Given the description of an element on the screen output the (x, y) to click on. 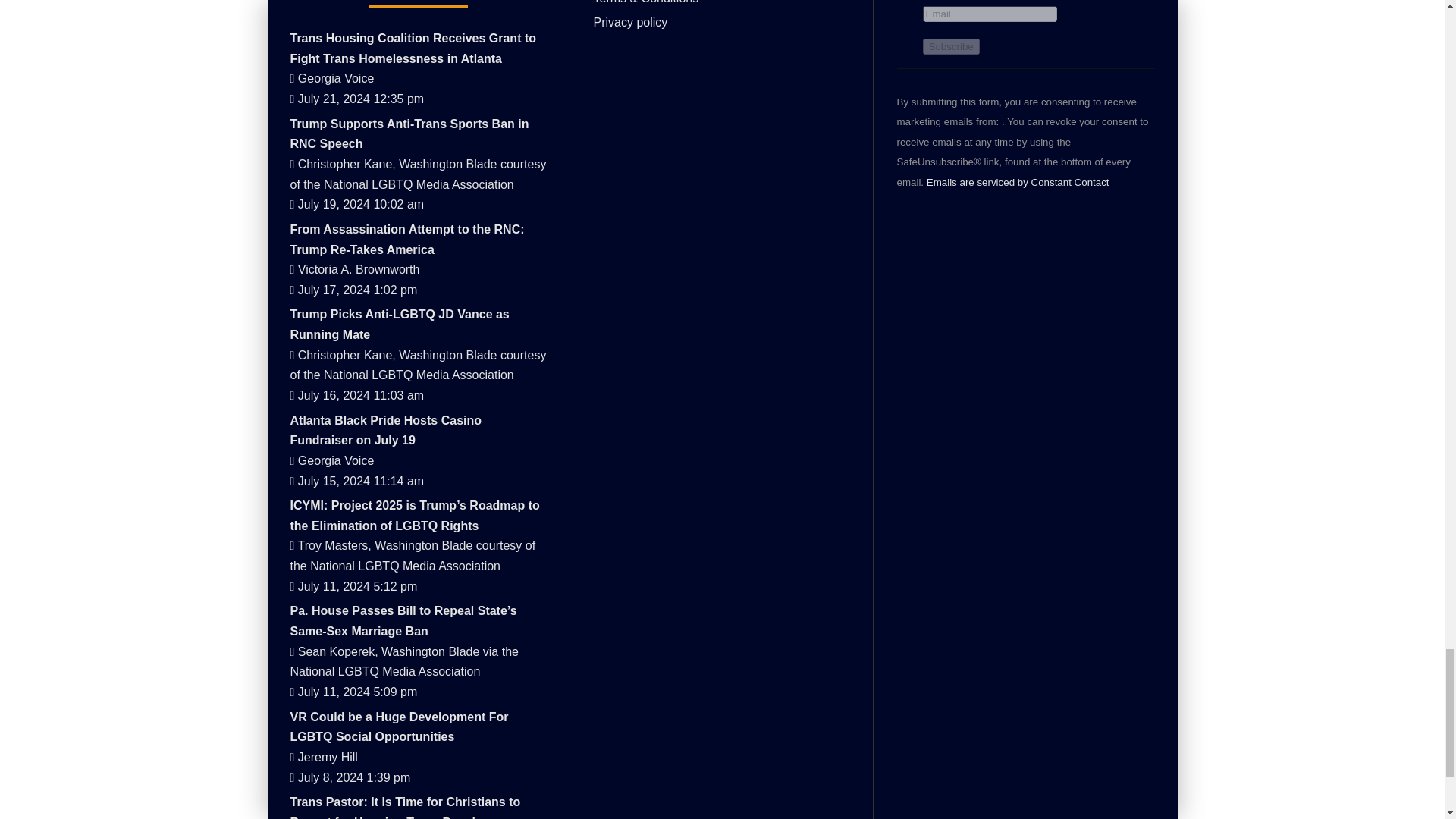
Subscribe (949, 46)
